Given the description of an element on the screen output the (x, y) to click on. 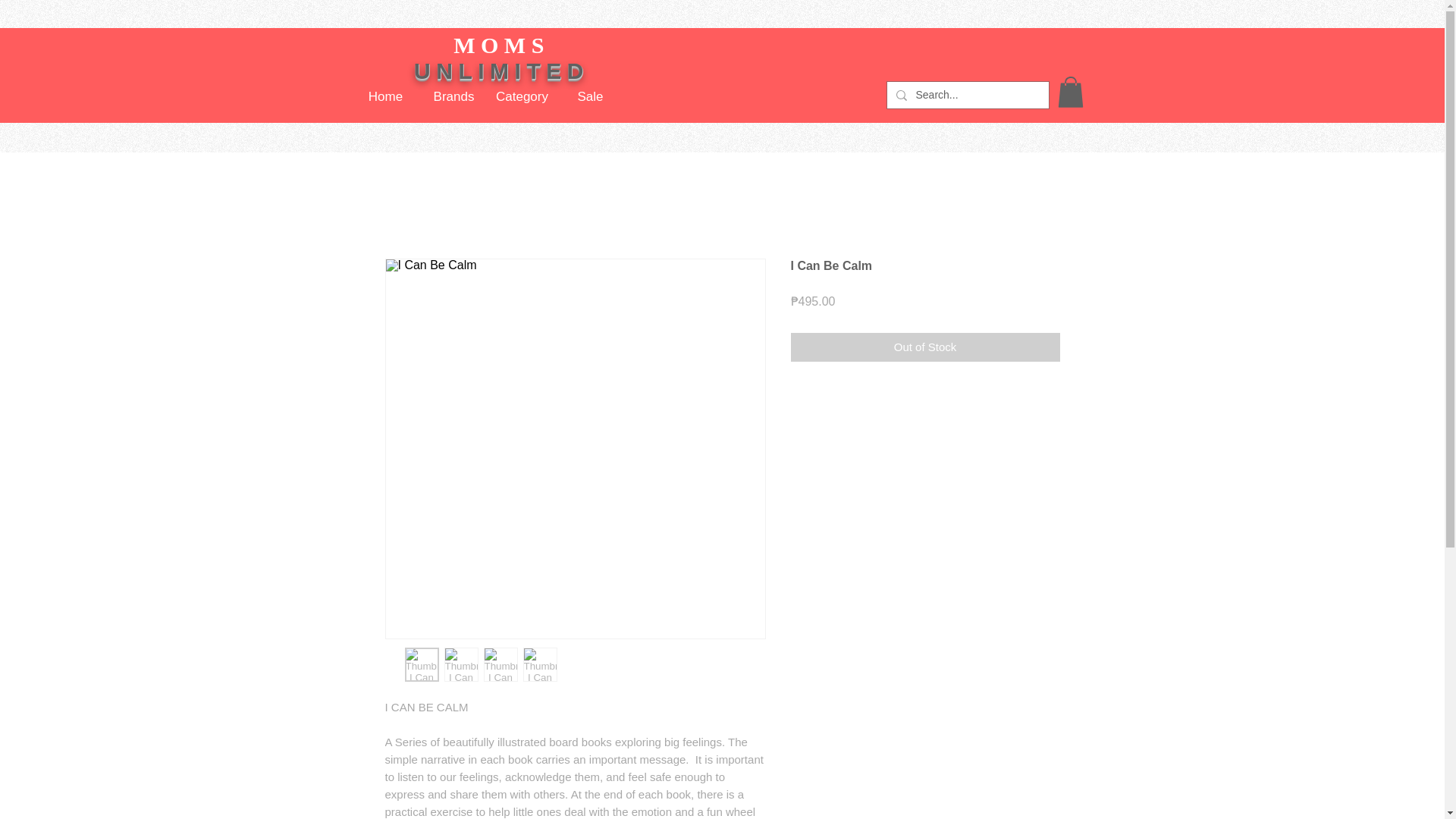
UNLIMITED (501, 70)
MOMS (501, 44)
Brands (453, 96)
Home (386, 96)
